Given the description of an element on the screen output the (x, y) to click on. 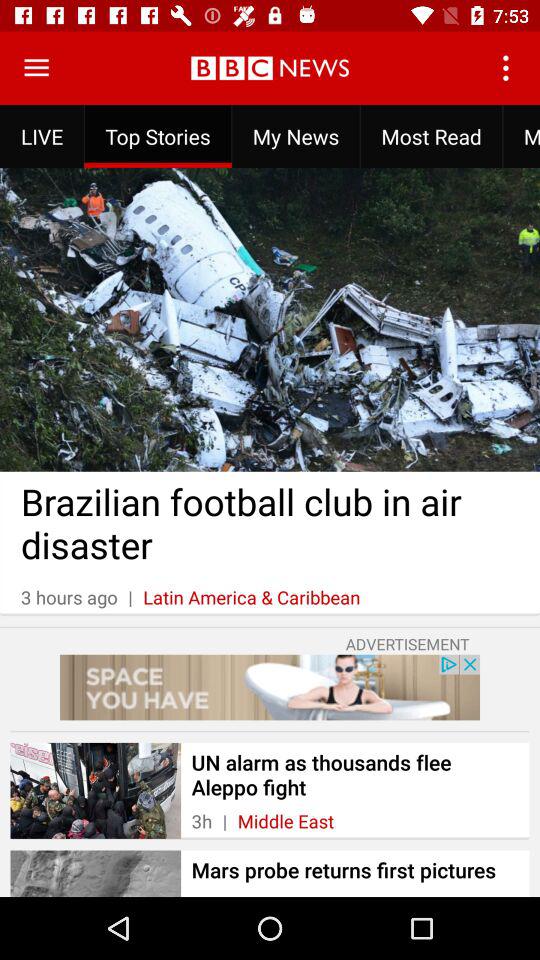
news page (36, 68)
